Given the description of an element on the screen output the (x, y) to click on. 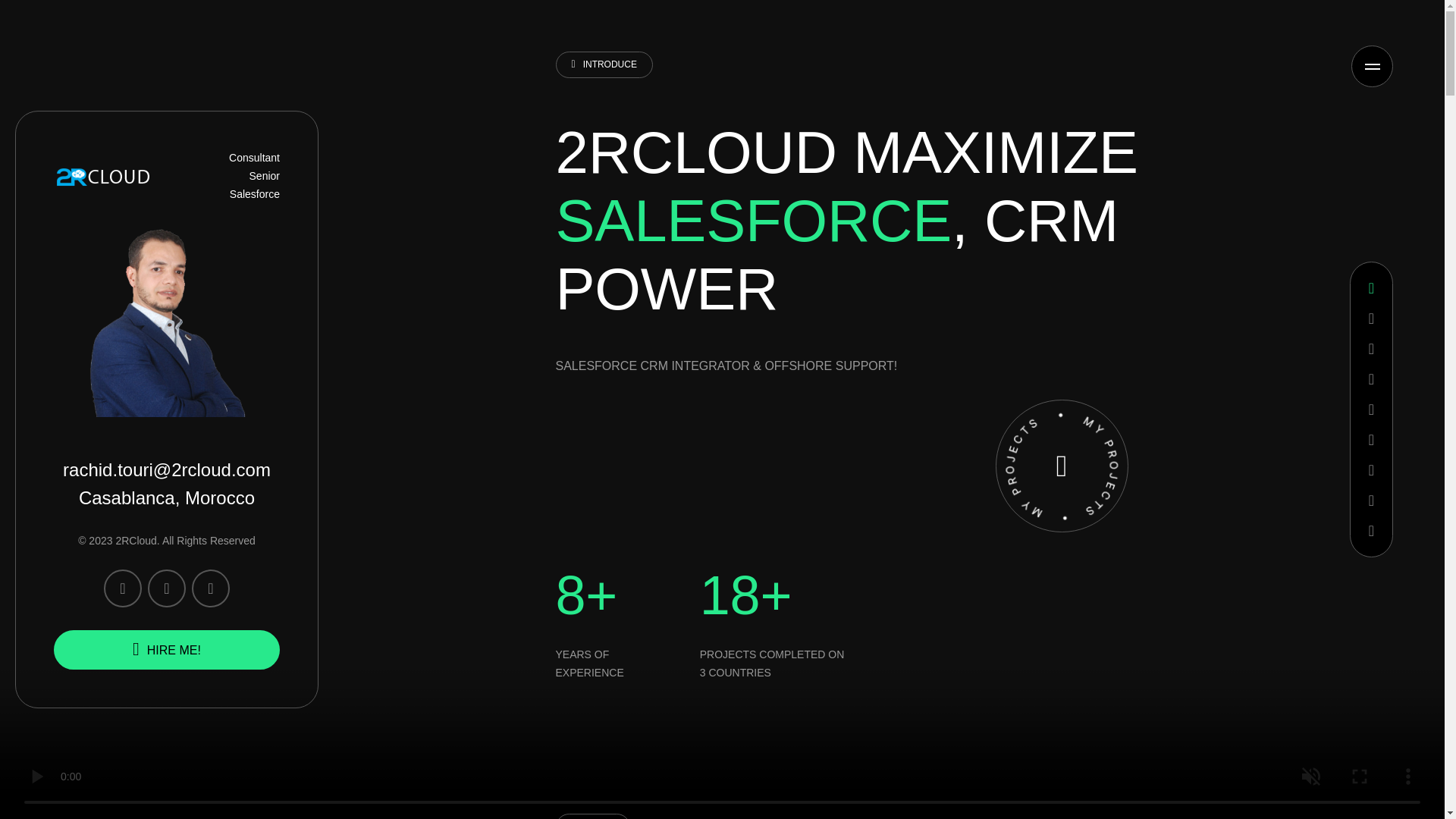
INTRODUCE (603, 64)
2RCLOUD MAXIMIZE SALESFORCE, CRM POWER (846, 219)
ABOUT (591, 816)
HIRE ME! (166, 649)
